Given the description of an element on the screen output the (x, y) to click on. 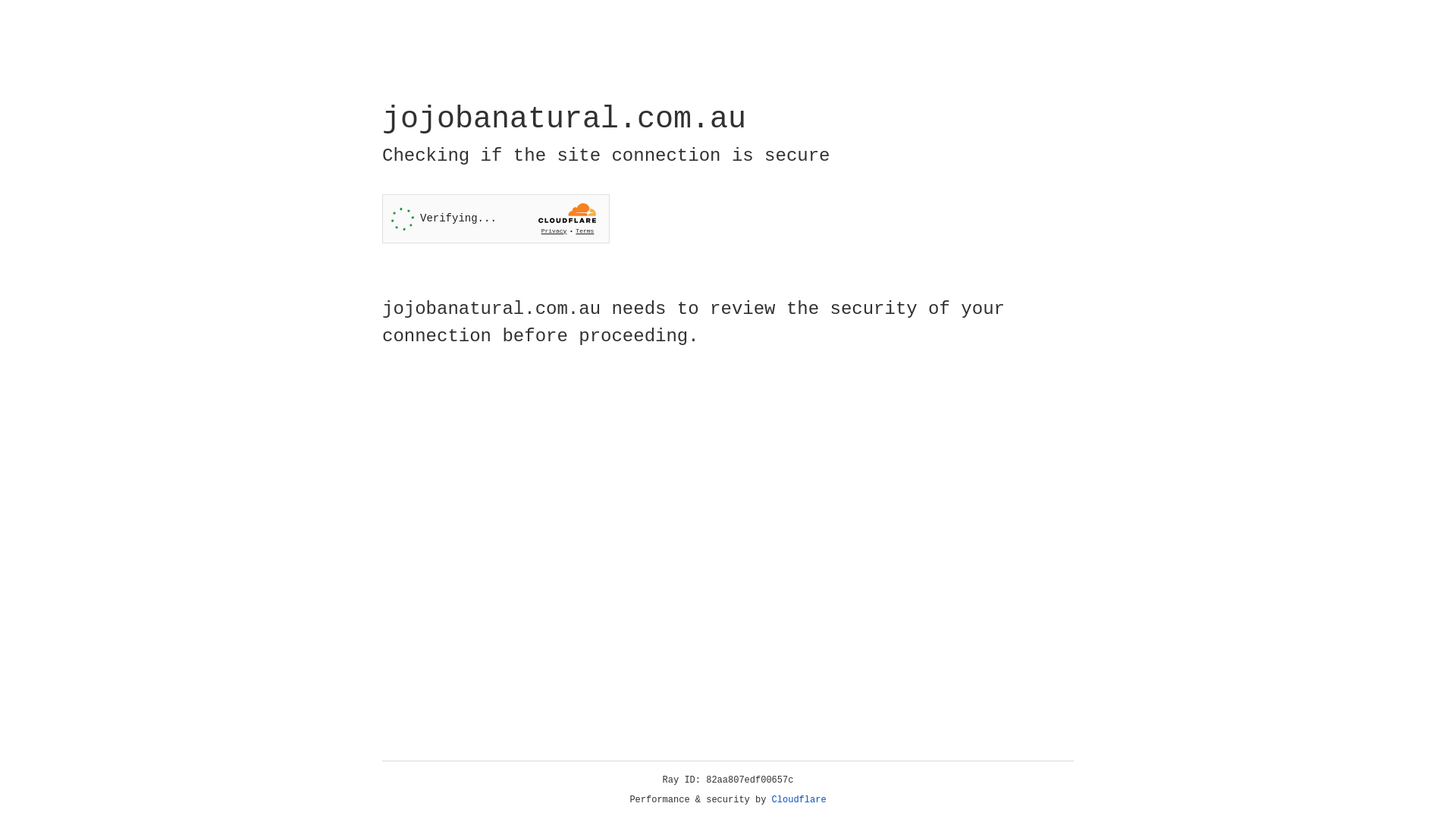
Cloudflare Element type: text (798, 799)
Widget containing a Cloudflare security challenge Element type: hover (495, 218)
